Given the description of an element on the screen output the (x, y) to click on. 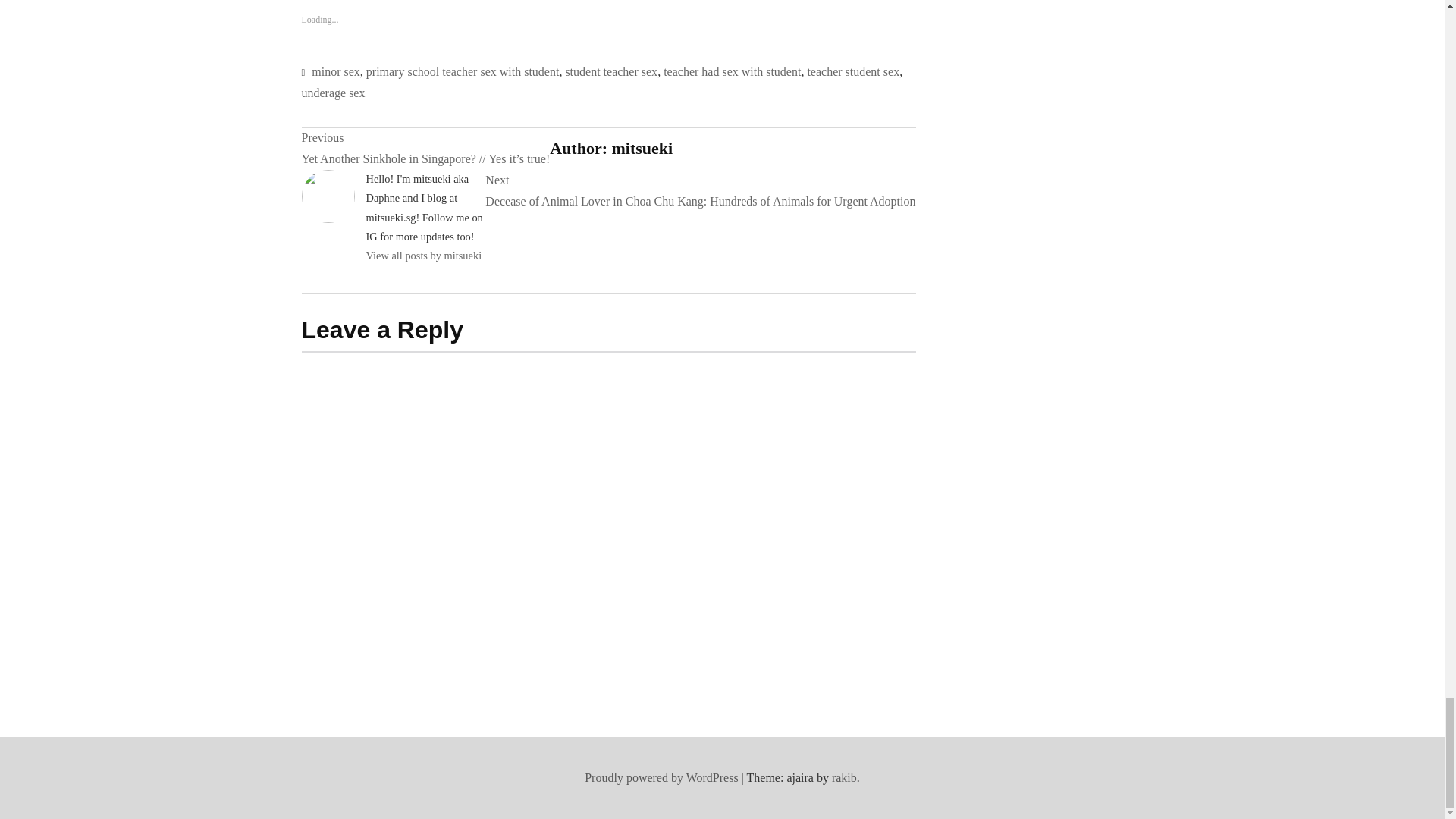
minor sex (335, 71)
primary school teacher sex with student (462, 71)
student teacher sex (611, 71)
teacher had sex with student (731, 71)
